Given the description of an element on the screen output the (x, y) to click on. 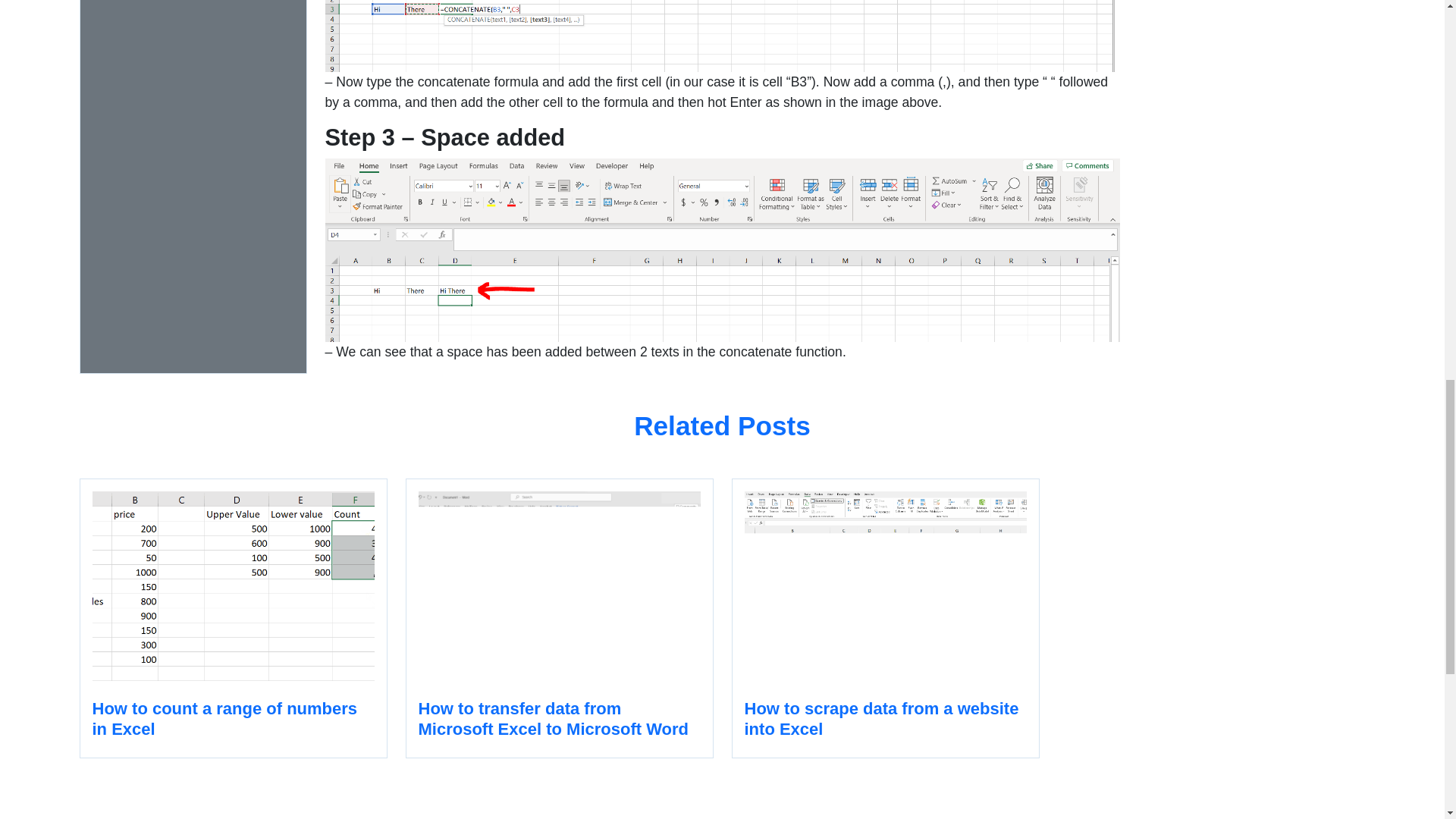
How to transfer data from Microsoft Excel to Microsoft Word (558, 618)
How to scrape data from a website into Excel (884, 618)
How to count a range of numbers in Excel (232, 618)
